Given the description of an element on the screen output the (x, y) to click on. 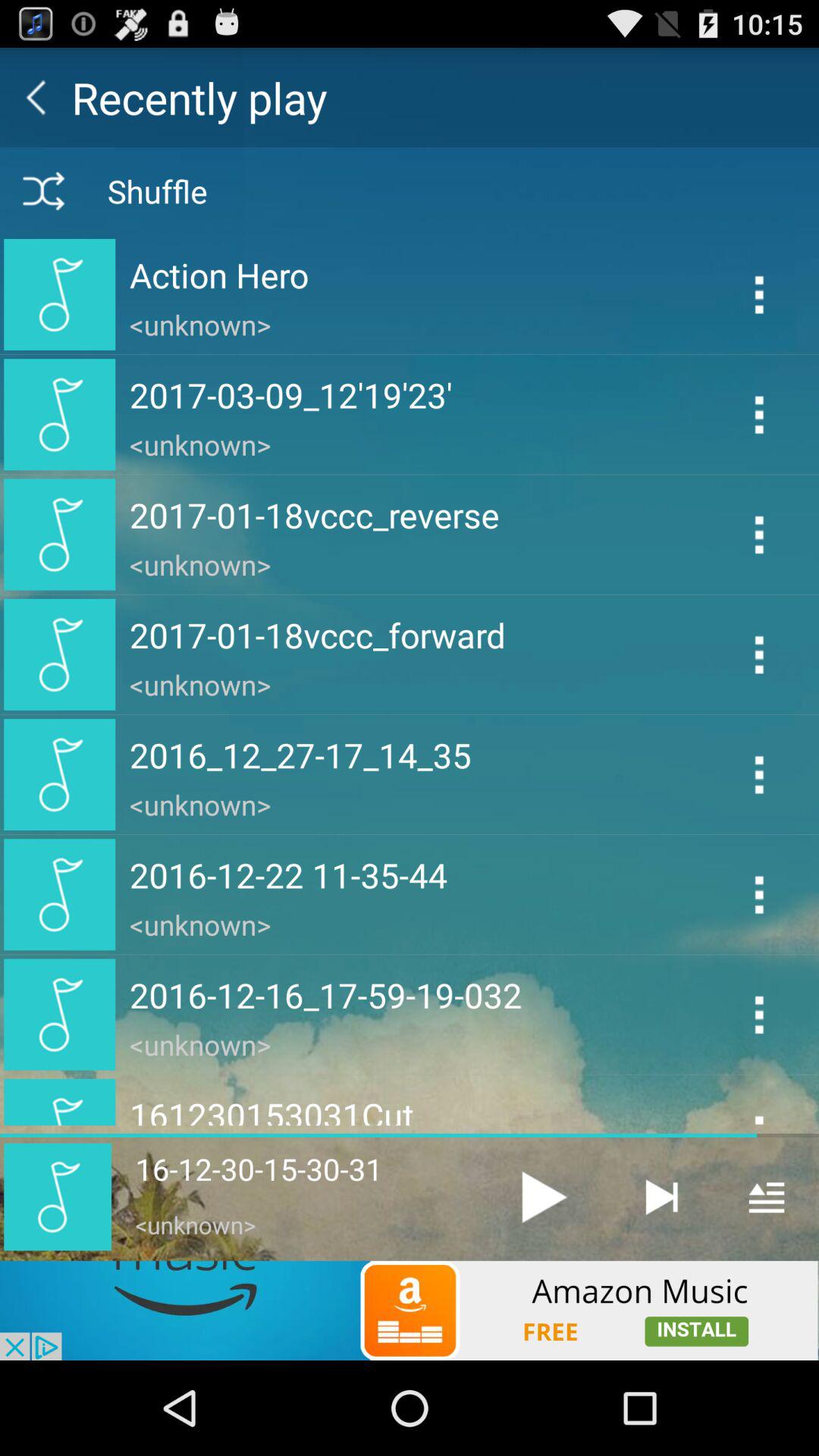
play unknown music file 16-12-30-15-30-31 (543, 1197)
